Given the description of an element on the screen output the (x, y) to click on. 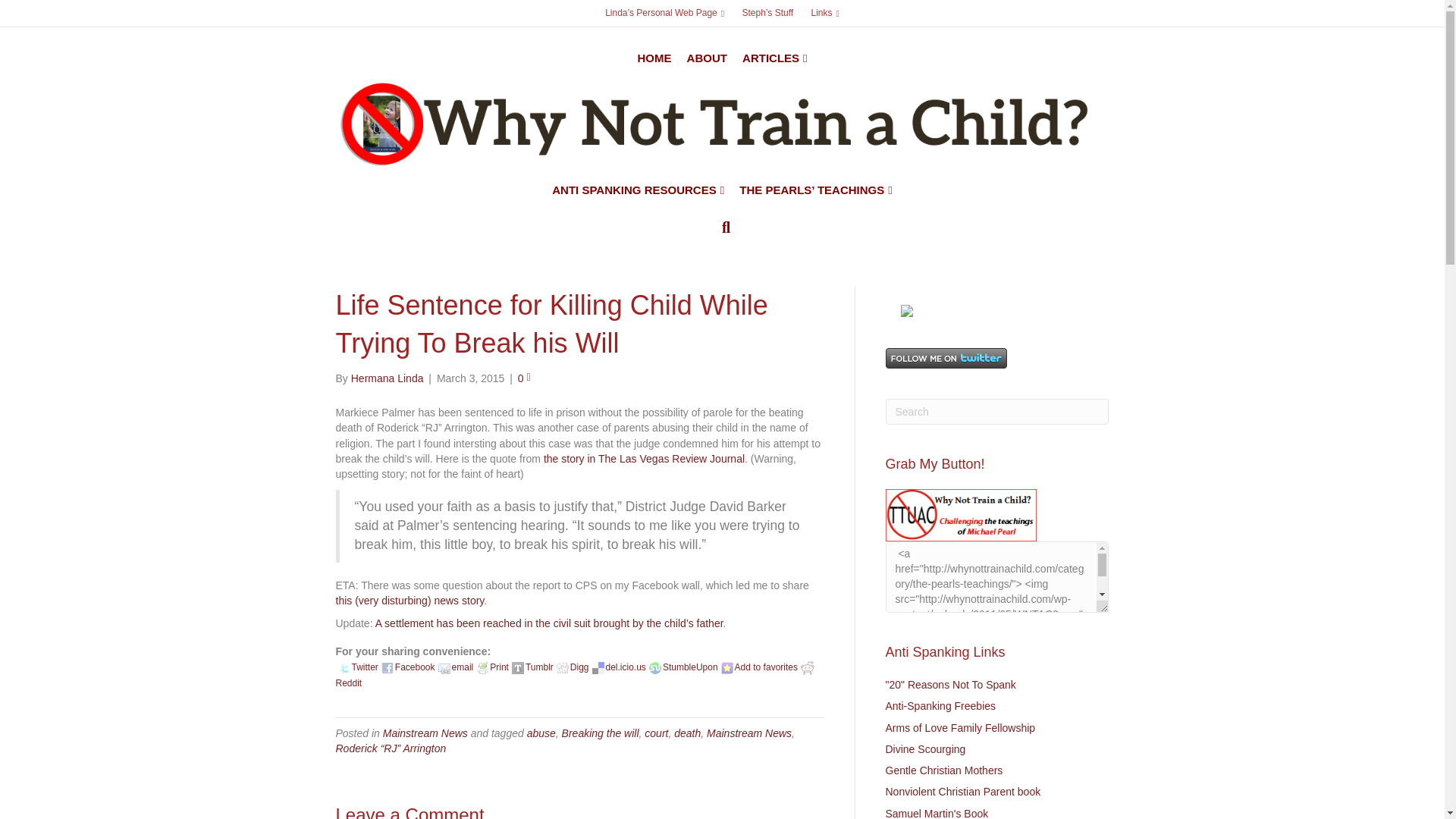
Twitter (344, 667)
Settlement reached in beating death of Las Vegas 7-year-old (549, 623)
Facebook (387, 667)
email (443, 667)
del.icio.us (597, 667)
Tumblr (518, 667)
Print (481, 667)
Digg (562, 667)
